Given the description of an element on the screen output the (x, y) to click on. 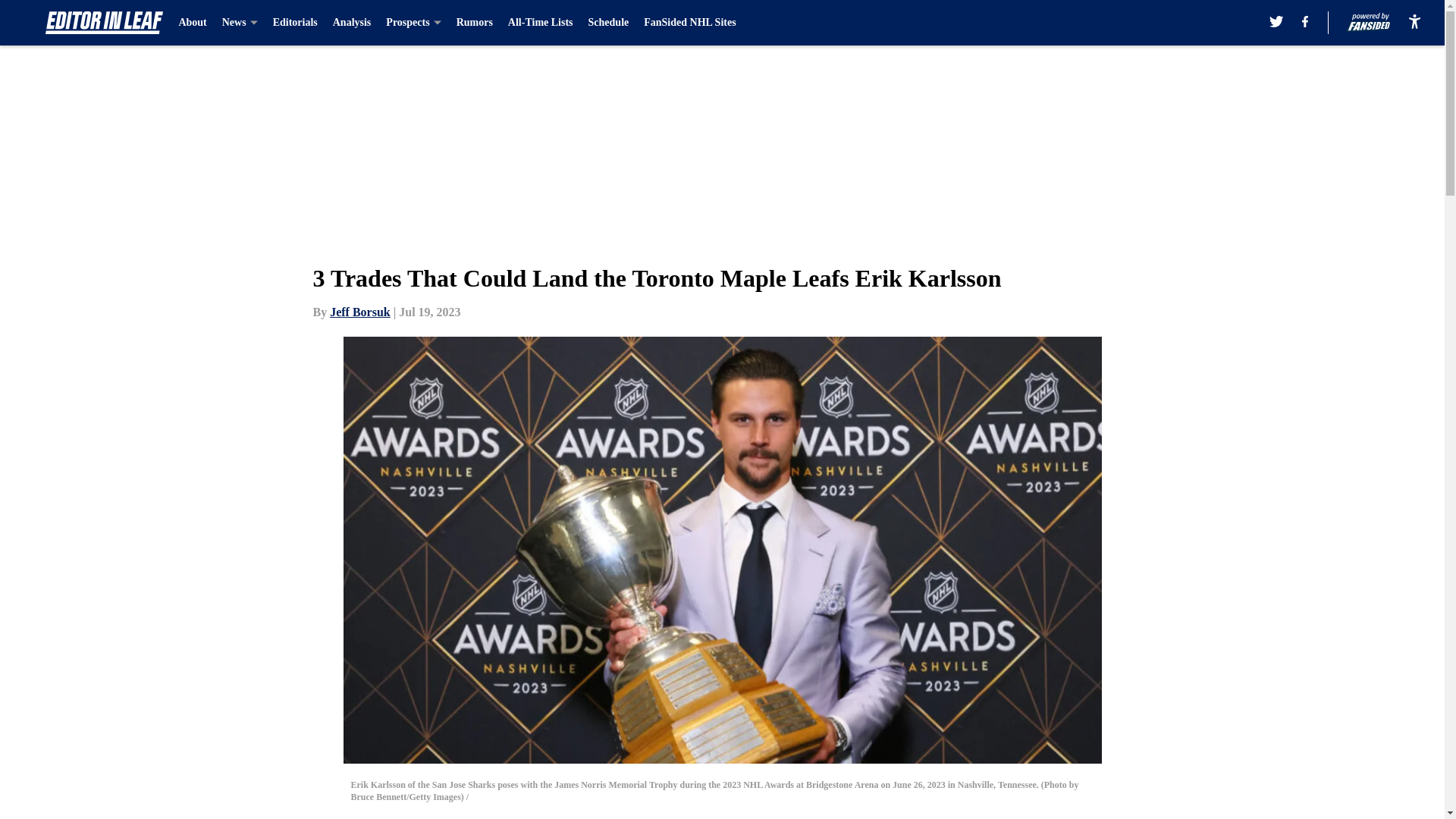
Editorials (295, 22)
Jeff Borsuk (360, 311)
About (191, 22)
Schedule (608, 22)
Analysis (352, 22)
All-Time Lists (540, 22)
Rumors (475, 22)
FanSided NHL Sites (689, 22)
